Given the description of an element on the screen output the (x, y) to click on. 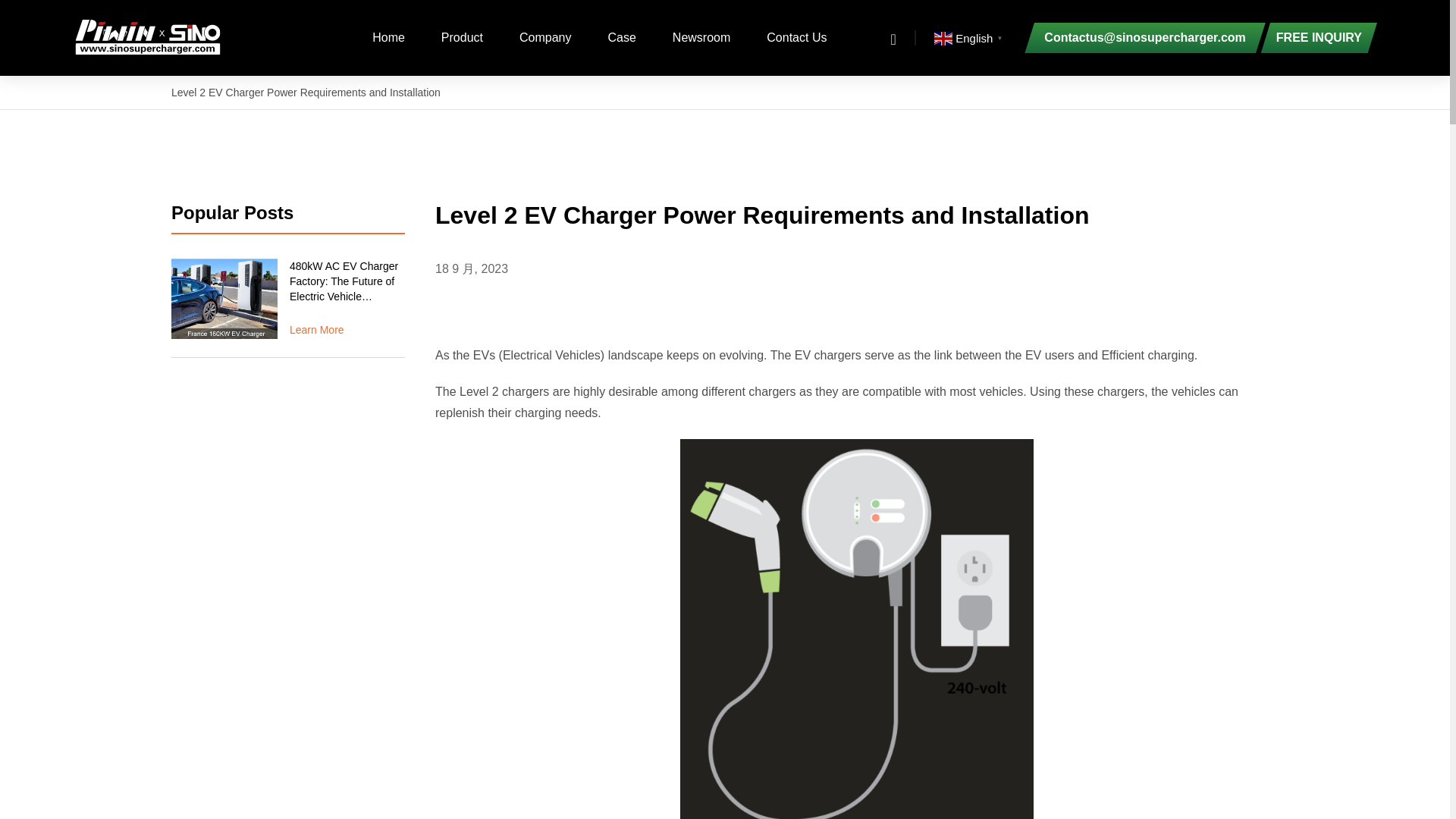
Product (462, 37)
Newsroom (701, 37)
Company (544, 37)
Case (620, 37)
Home (388, 37)
Contact Us (797, 37)
